Given the description of an element on the screen output the (x, y) to click on. 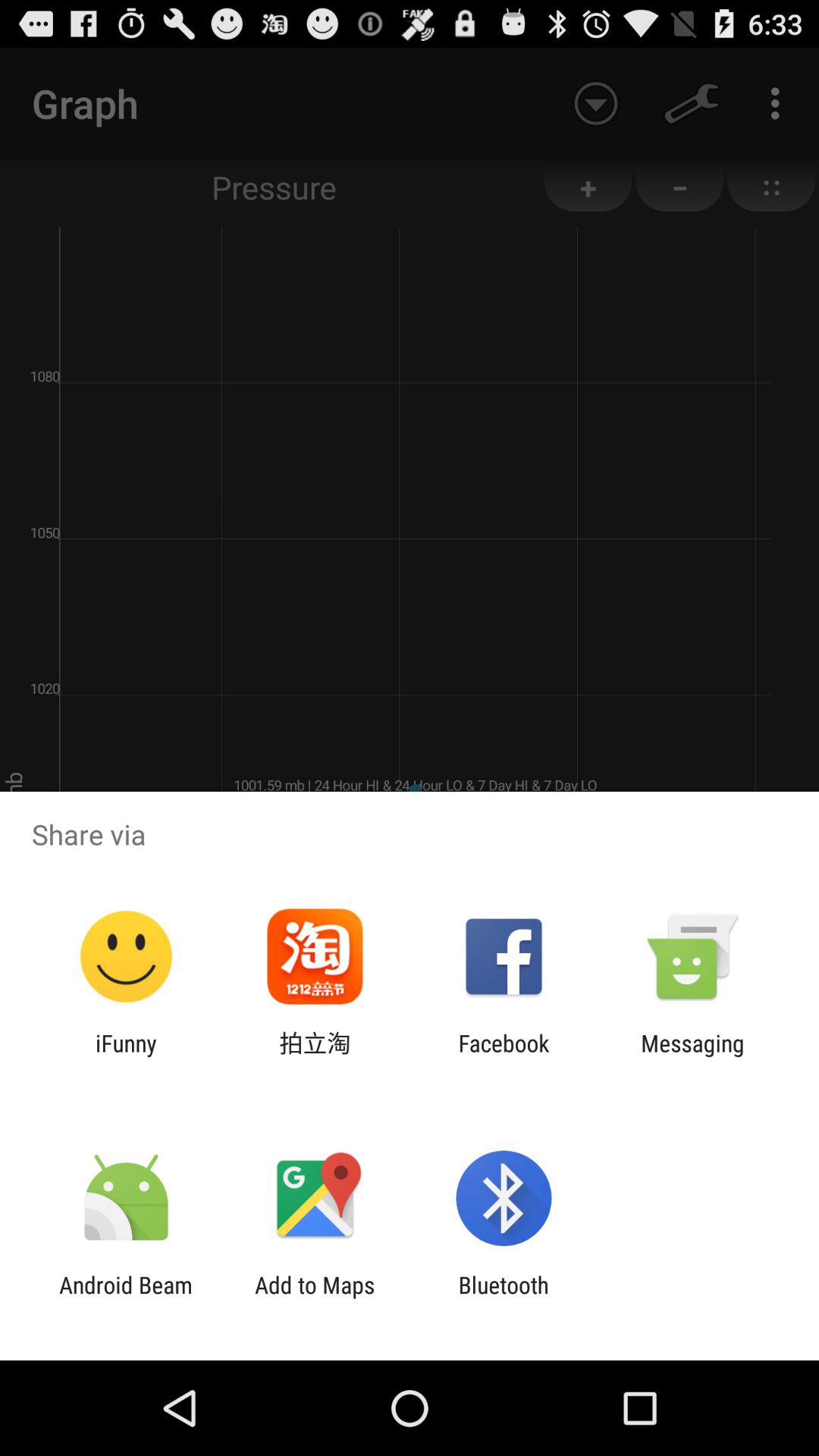
flip until the messaging icon (692, 1056)
